Given the description of an element on the screen output the (x, y) to click on. 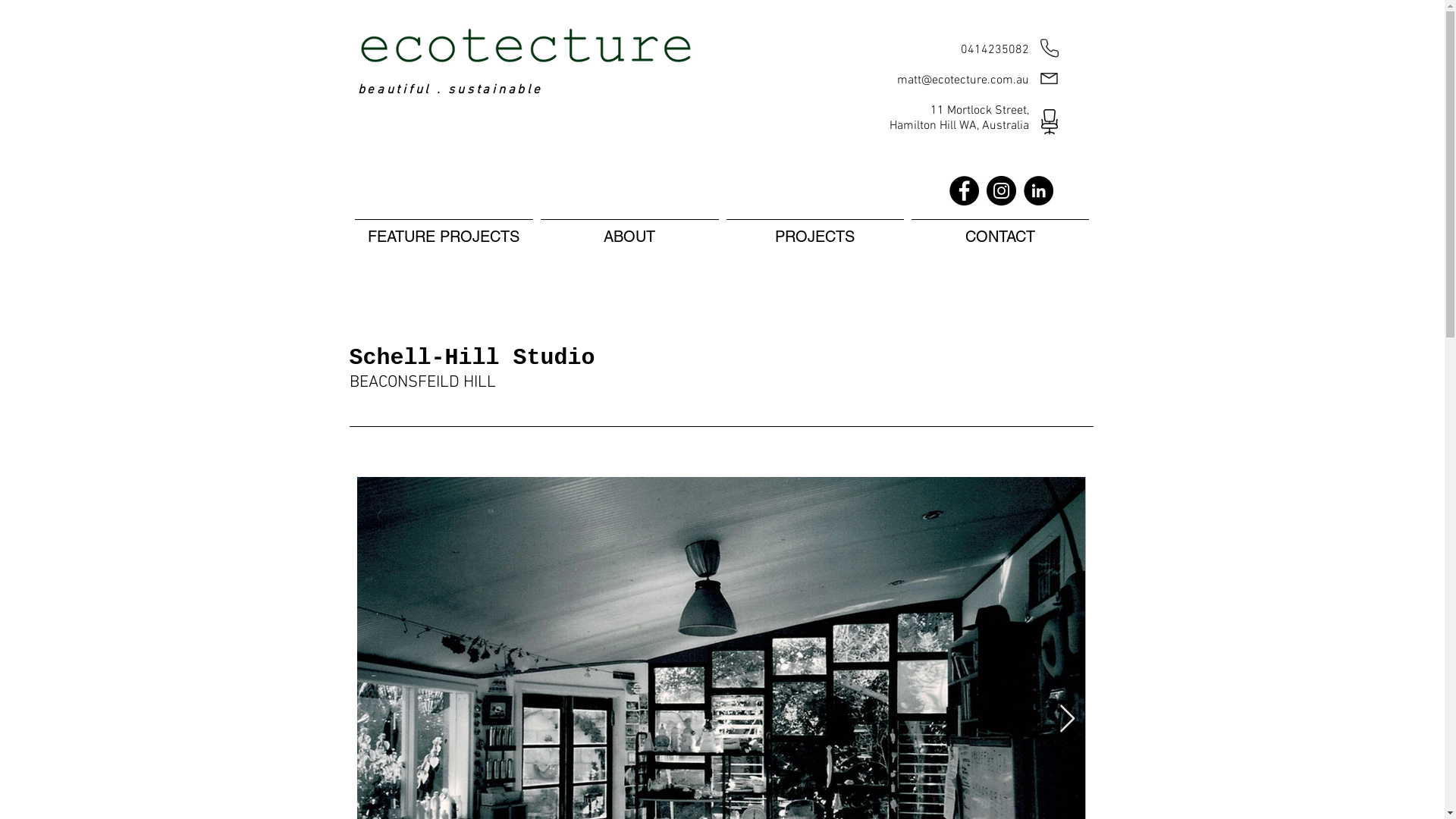
FEATURE PROJECTS Element type: text (443, 229)
matt@ecotecture.com.au Element type: text (962, 79)
ABOUT Element type: text (629, 229)
beautiful . sustainable Element type: text (449, 89)
PROJECTS Element type: text (813, 229)
CONTACT Element type: text (999, 229)
